Given the description of an element on the screen output the (x, y) to click on. 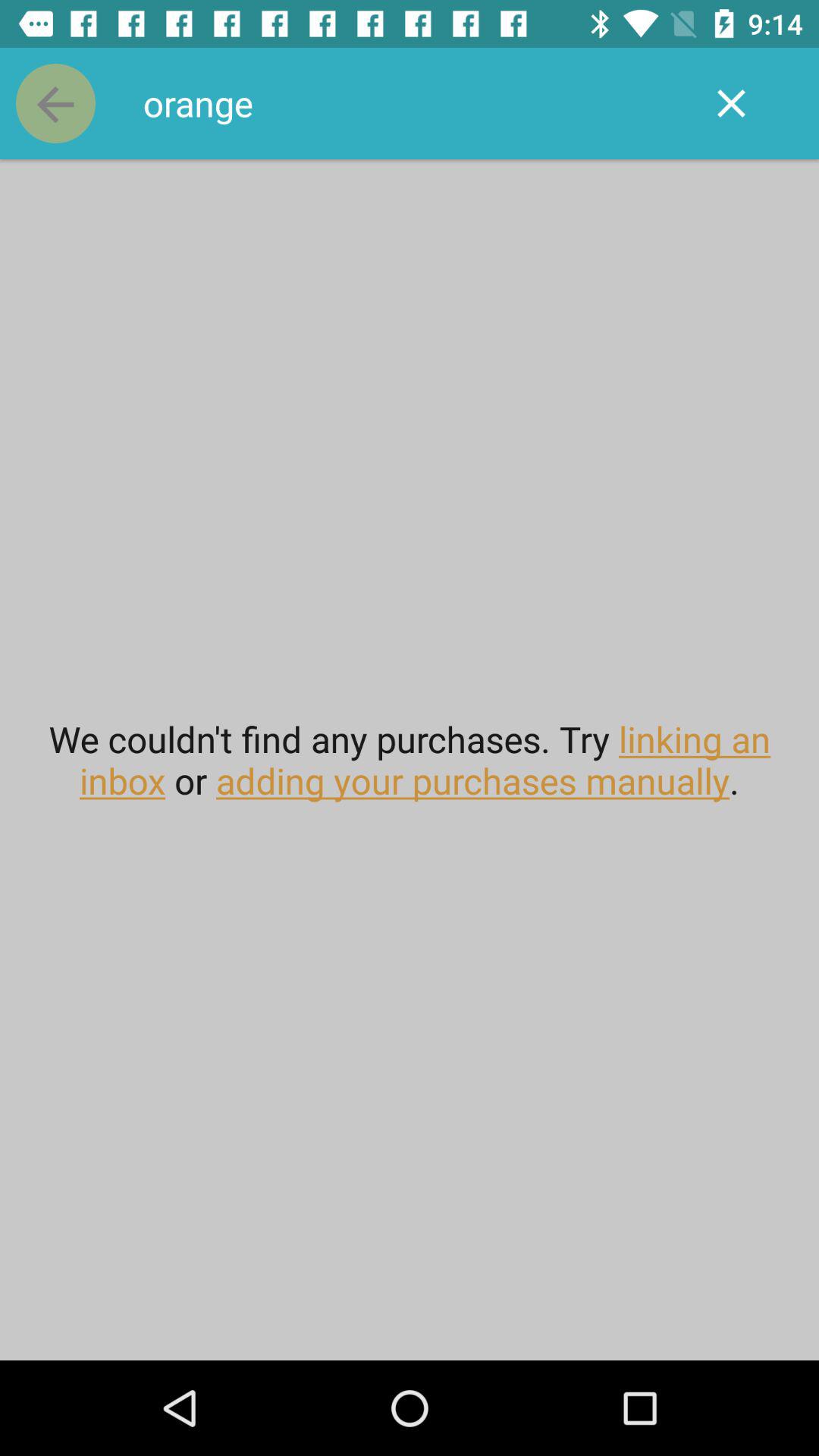
open we couldn t item (409, 759)
